Given the description of an element on the screen output the (x, y) to click on. 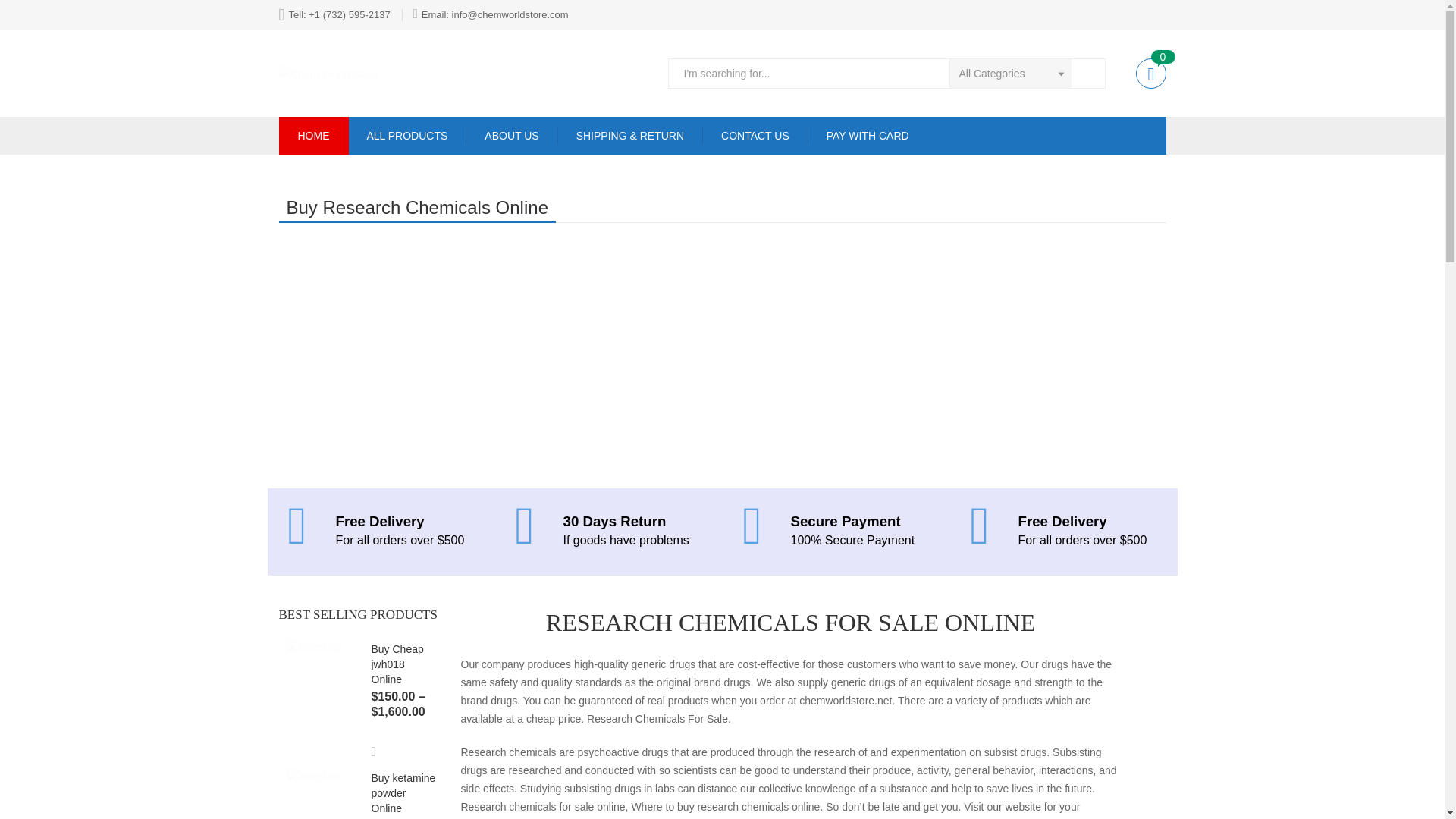
CONTACT US (754, 135)
Buy ketamine powder Online (403, 793)
HOME (314, 135)
HOME (314, 135)
PAY WITH CARD (868, 135)
Buy Cheap jwh018 Online (397, 663)
ABOUT US (511, 135)
CONTACT US (754, 135)
ALL PRODUCTS (406, 135)
0 (1150, 73)
